Given the description of an element on the screen output the (x, y) to click on. 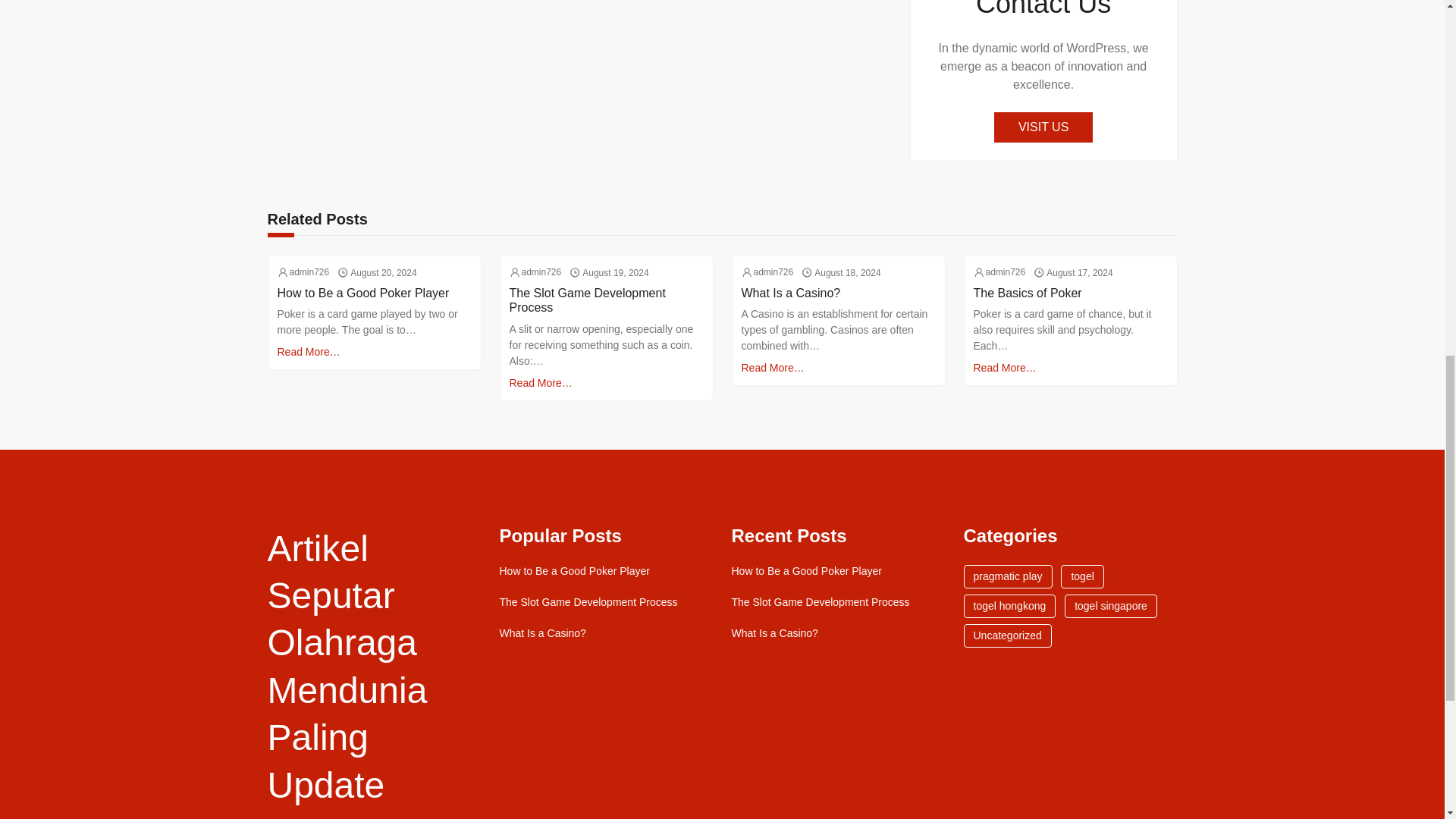
pragmatic play (1006, 576)
The Slot Game Development Process (819, 602)
The Basics of Poker (1027, 292)
VISIT US (1043, 127)
How to Be a Good Poker Player (363, 292)
What Is a Casino? (773, 633)
What Is a Casino? (791, 292)
How to Be a Good Poker Player (574, 571)
How to Be a Good Poker Player (805, 571)
What Is a Casino? (542, 633)
